Given the description of an element on the screen output the (x, y) to click on. 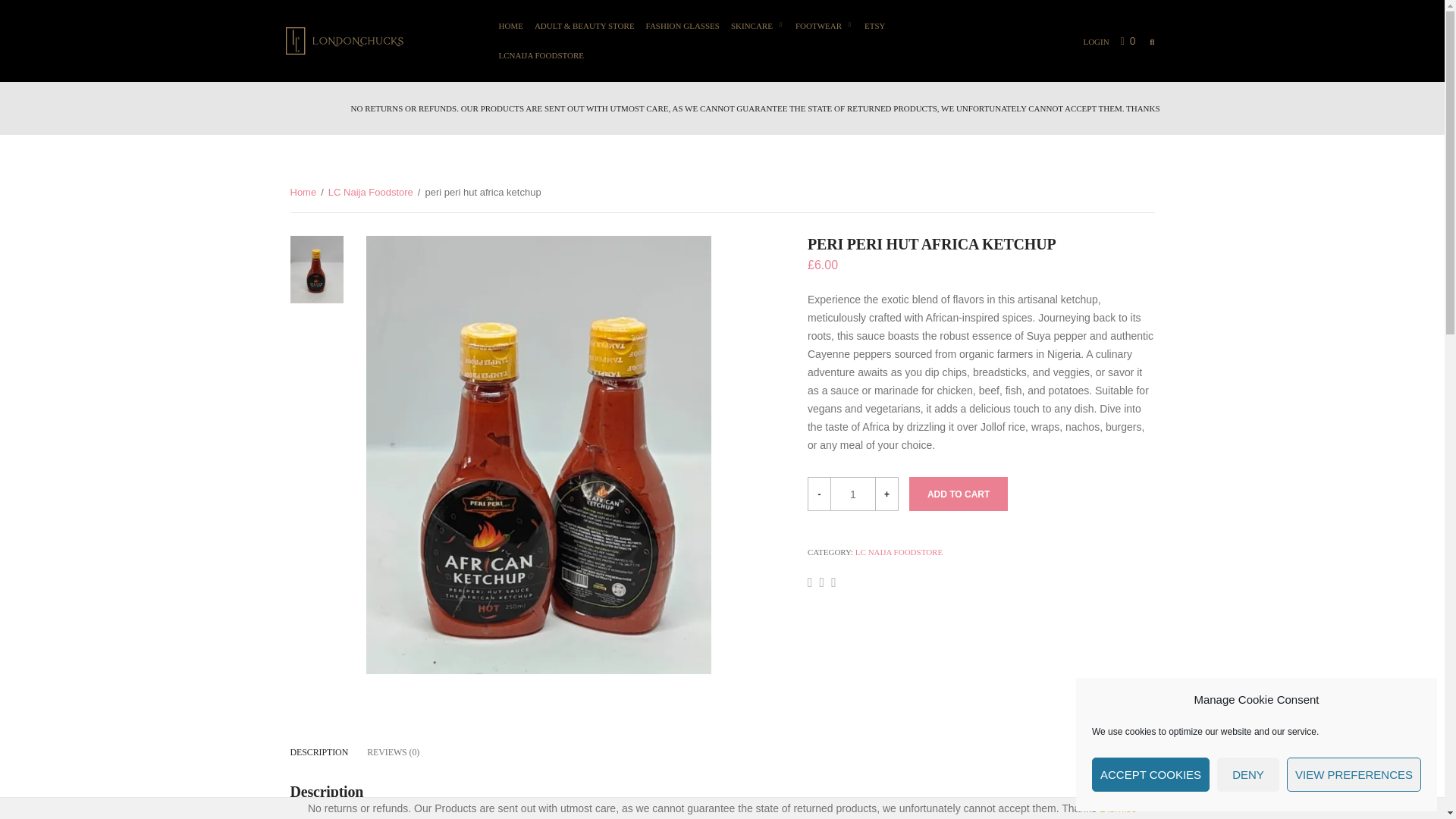
VIEW PREFERENCES (1354, 774)
FASHION GLASSES (682, 25)
SKINCARE (757, 25)
1 (852, 493)
Qty (852, 493)
DENY (1248, 774)
ACCEPT COOKIES (1150, 774)
